Given the description of an element on the screen output the (x, y) to click on. 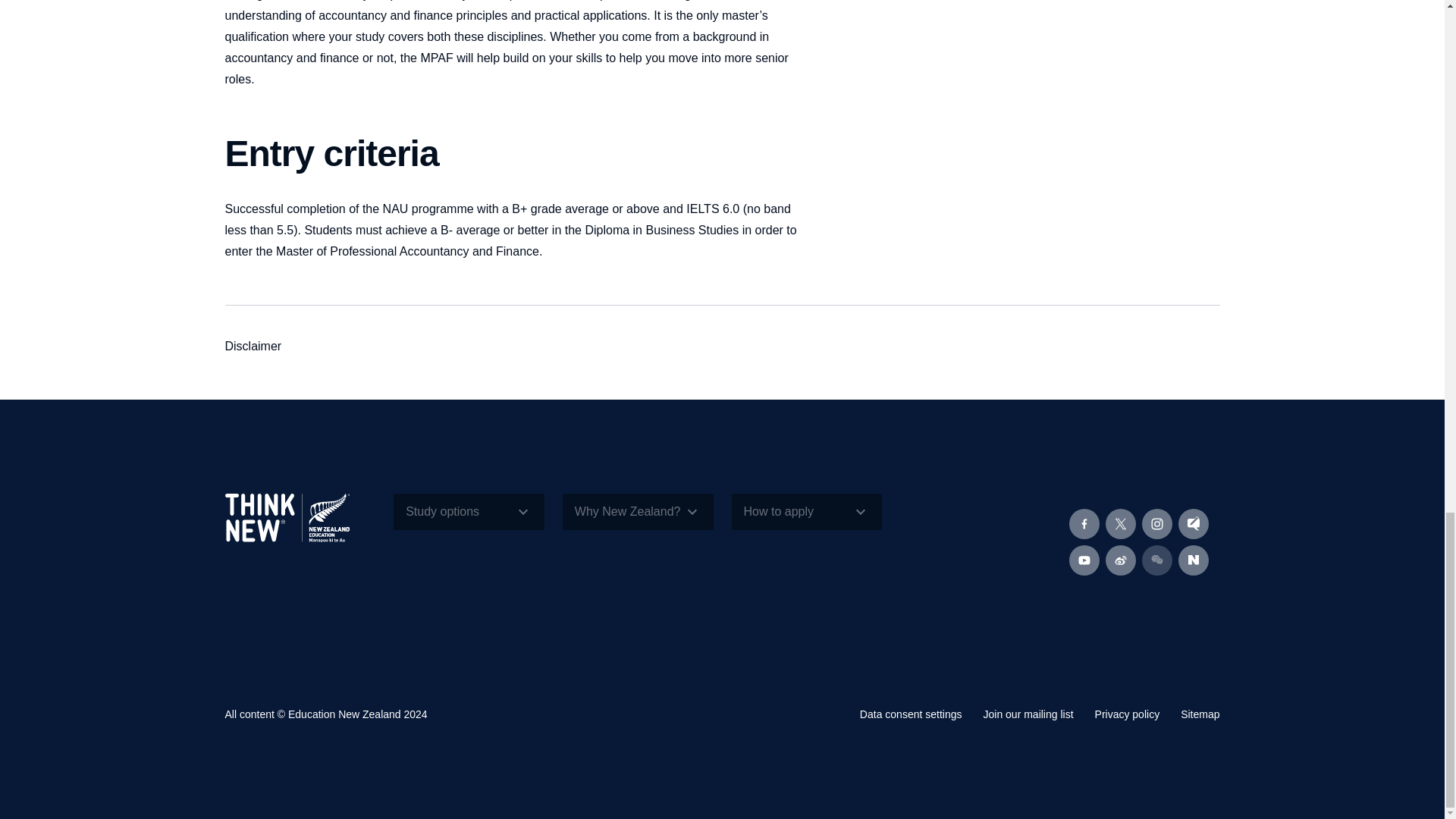
Blog (1192, 523)
New Zealand Education - Think New Logo (299, 529)
New Zealand Education - Think New Logo (286, 517)
Link to homepage (299, 529)
YouTube (1083, 560)
Why New Zealand? (637, 511)
Study options (468, 511)
Facebook (1083, 523)
How to apply (806, 511)
Twitter (1120, 523)
Instagram (1156, 523)
